Given the description of an element on the screen output the (x, y) to click on. 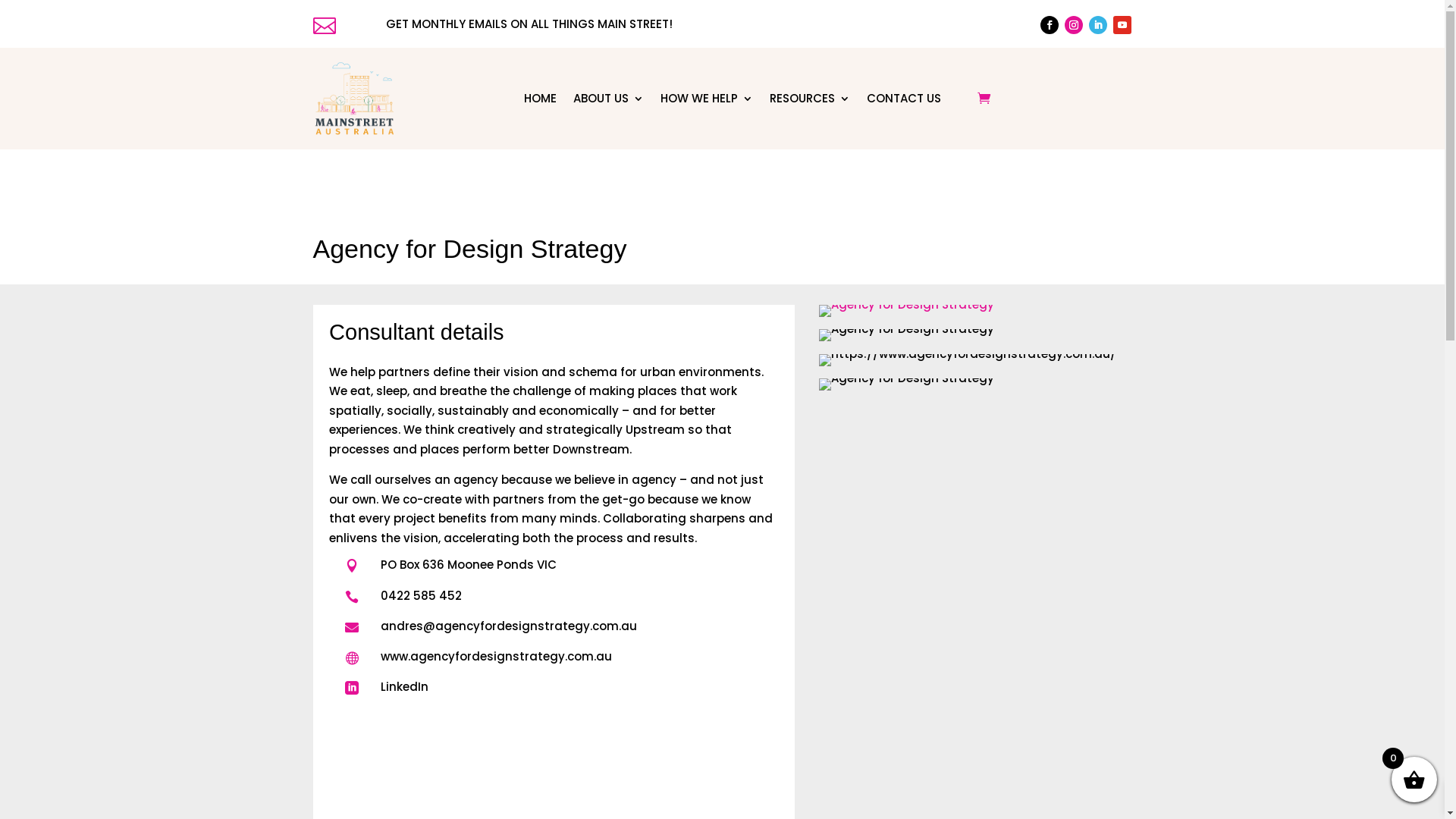
https://www.agencyfordesignstrategy.com.au/ Element type: hover (967, 360)
ABOUT US Element type: text (608, 98)
RESOURCES Element type: text (809, 98)
HOW WE HELP Element type: text (706, 98)
andres@agencyfordesignstrategy.com.au Element type: text (508, 625)
LinkedIn Element type: text (404, 686)
Agency for Design Strategy Element type: hover (906, 384)
www.agencyfordesignstrategy.com.au Element type: text (495, 656)
HOME Element type: text (540, 98)
Follow on Facebook Element type: hover (1049, 24)
Follow on LinkedIn Element type: hover (1097, 24)
CONTACT US Element type: text (903, 98)
0422 585 452 Element type: text (420, 595)
Agency for Design Strategy Element type: hover (906, 335)
Follow on Youtube Element type: hover (1122, 24)
Agency for Design Strategy Element type: hover (906, 310)
Follow on Instagram Element type: hover (1073, 24)
